Given the description of an element on the screen output the (x, y) to click on. 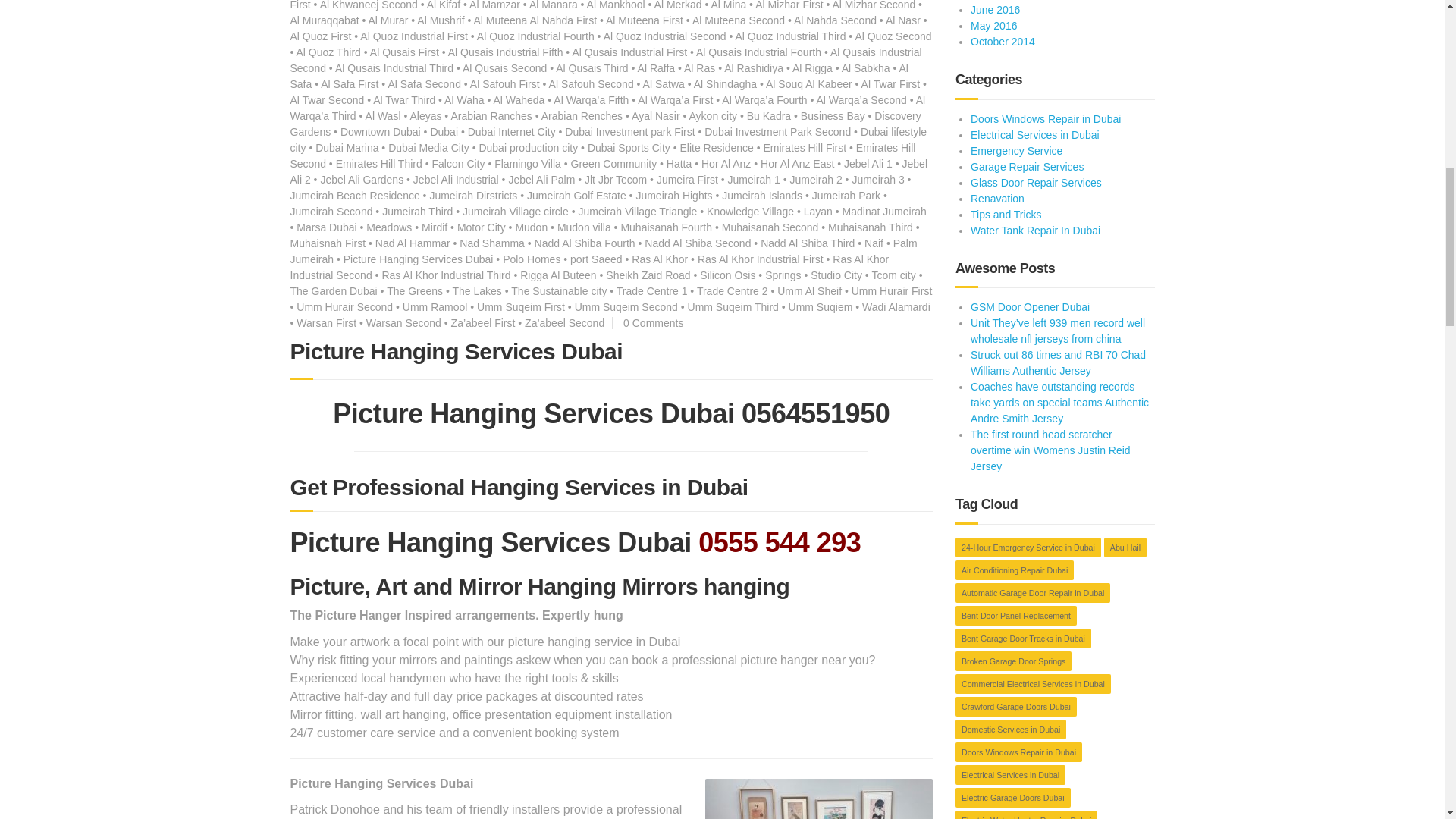
Garage Repair Services in Dubai  (1027, 166)
